Given the description of an element on the screen output the (x, y) to click on. 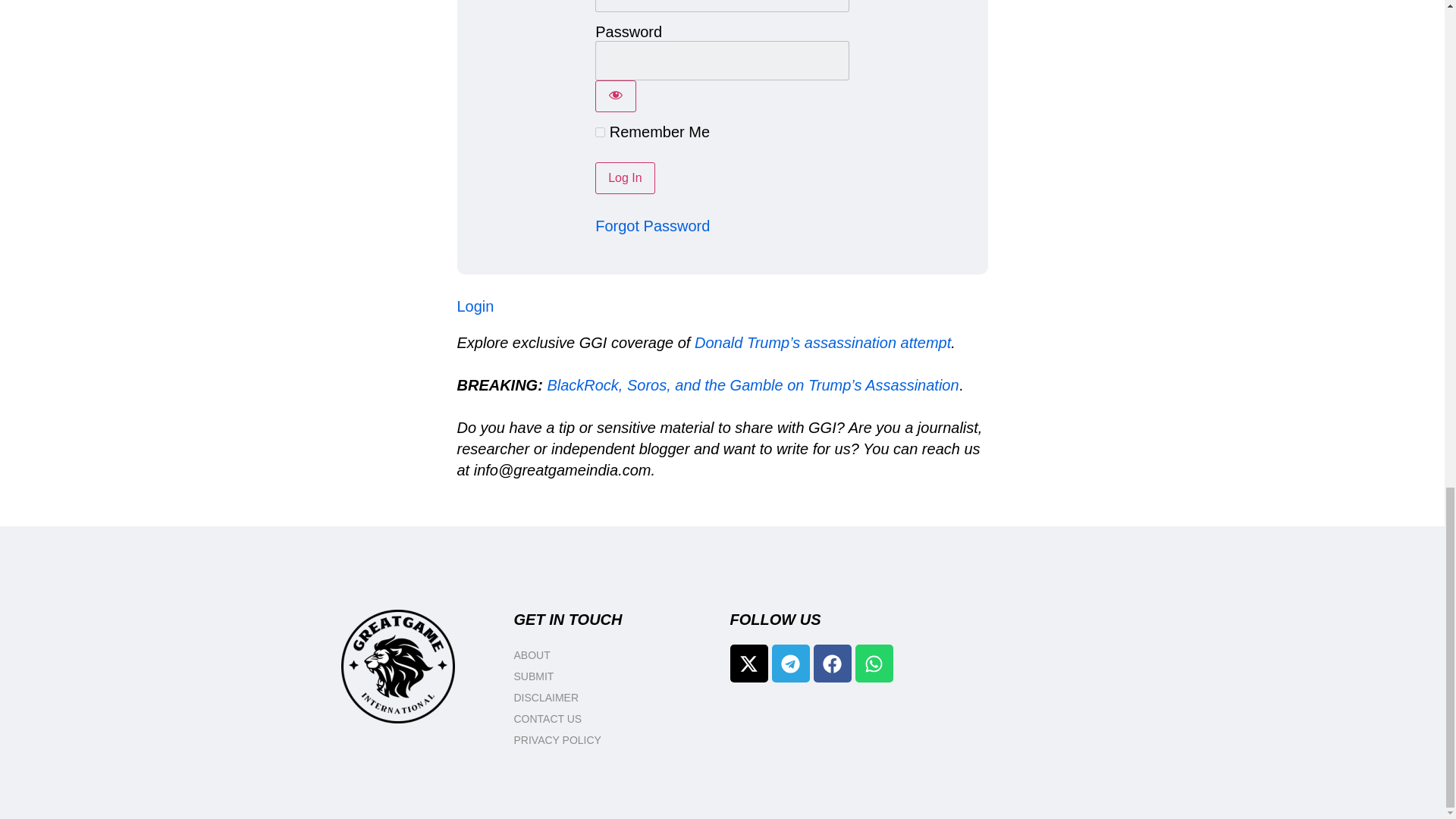
PRIVACY POLICY (613, 740)
Login (475, 306)
ABOUT (613, 654)
CONTACT US (613, 718)
Forgot Password (652, 225)
Log In (624, 178)
forever (600, 132)
Log In (624, 178)
SUBMIT (613, 676)
